Given the description of an element on the screen output the (x, y) to click on. 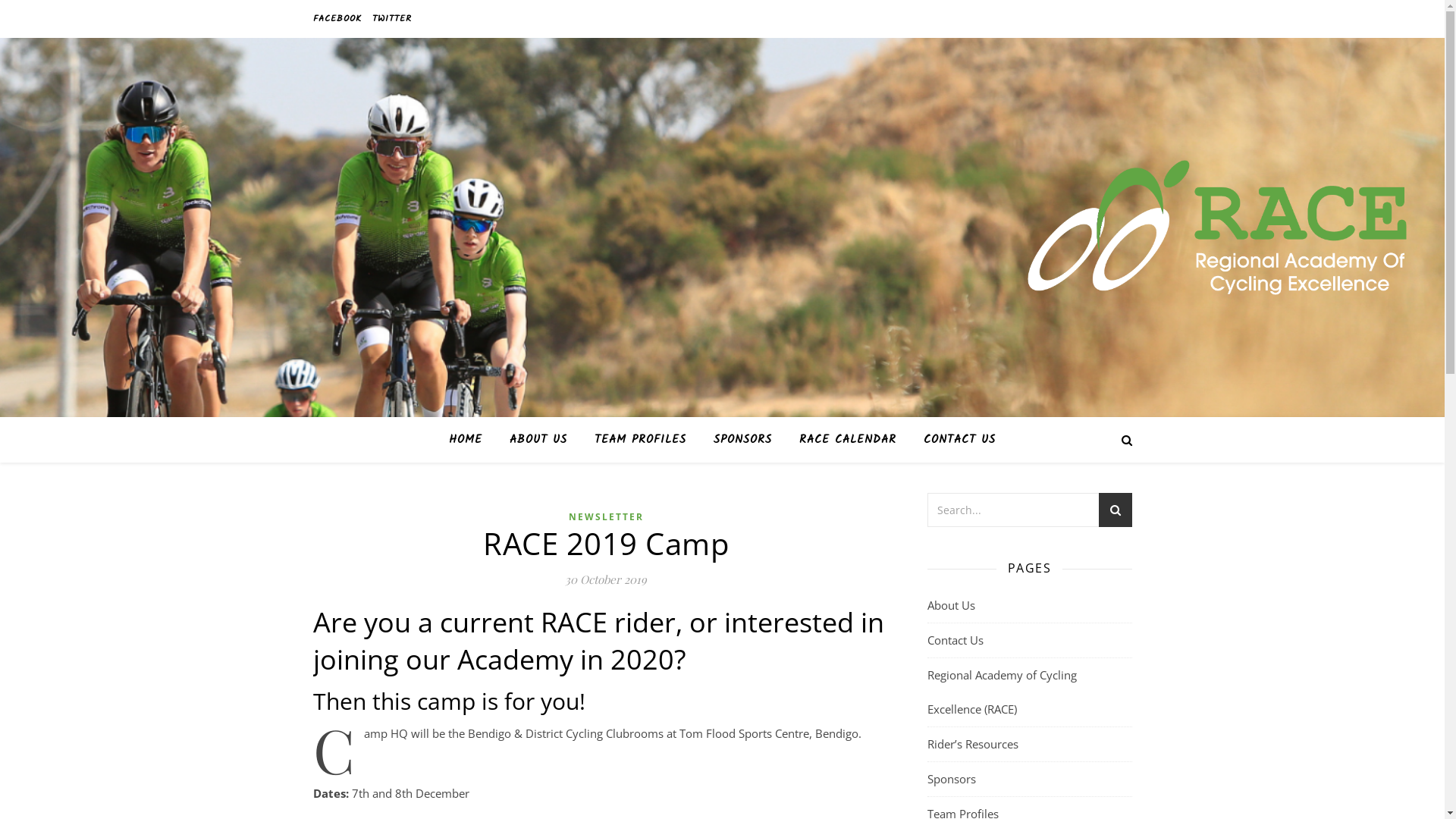
NEWSLETTER Element type: text (605, 516)
RACE CALENDAR Element type: text (847, 439)
CONTACT US Element type: text (953, 439)
HOME Element type: text (471, 439)
FACEBOOK Element type: text (338, 18)
Contact Us Element type: text (954, 639)
Regional Academy of Cycling Excellence (RACE) Element type: text (1001, 691)
About Us Element type: text (950, 604)
ABOUT US Element type: text (538, 439)
st Element type: text (1114, 511)
SPONSORS Element type: text (742, 439)
Sponsors Element type: text (950, 778)
TWITTER Element type: text (389, 18)
RACE Element type: hover (1216, 227)
TEAM PROFILES Element type: text (640, 439)
